Given the description of an element on the screen output the (x, y) to click on. 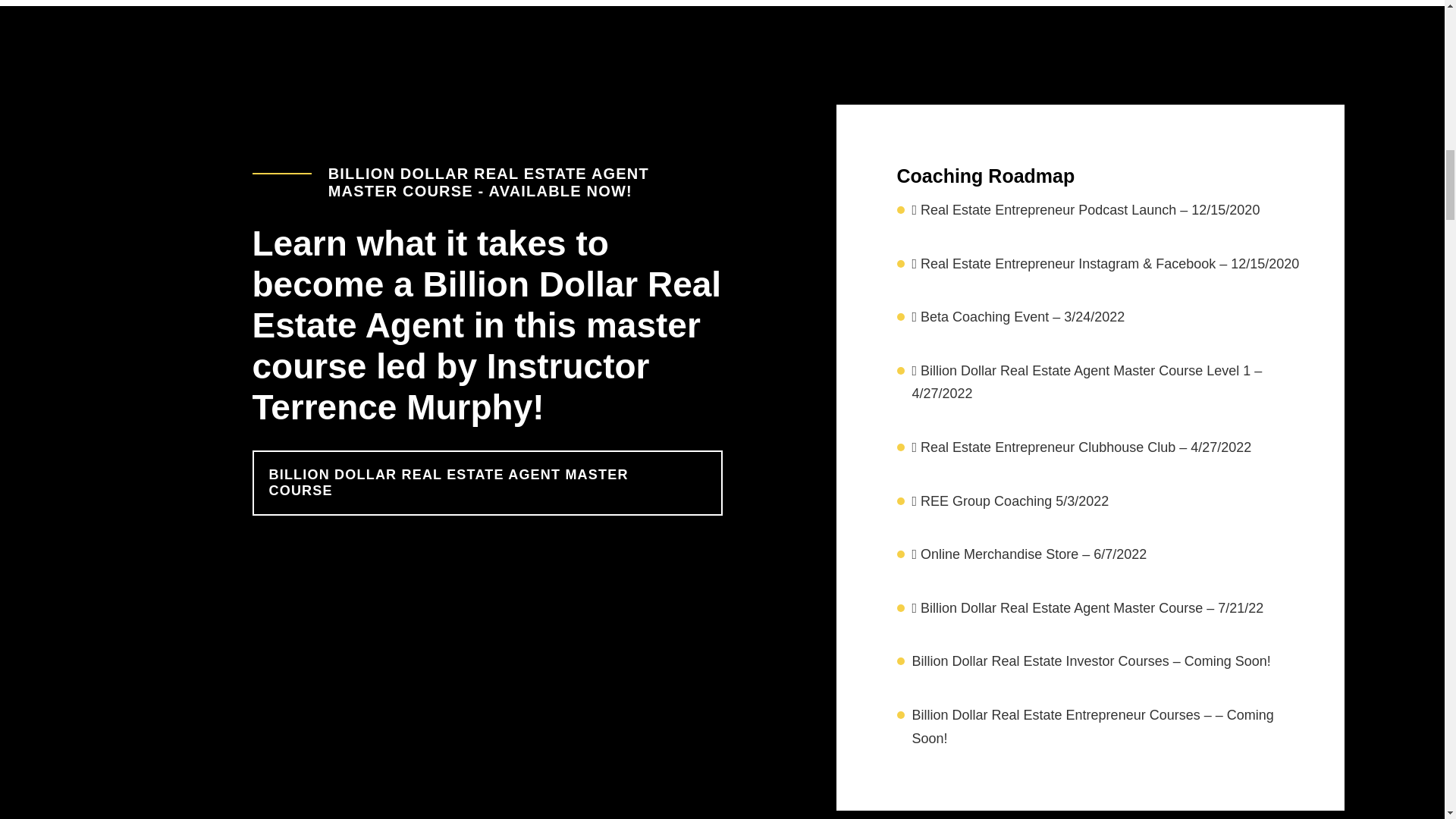
BILLION DOLLAR REAL ESTATE AGENT MASTER COURSE (486, 482)
